Given the description of an element on the screen output the (x, y) to click on. 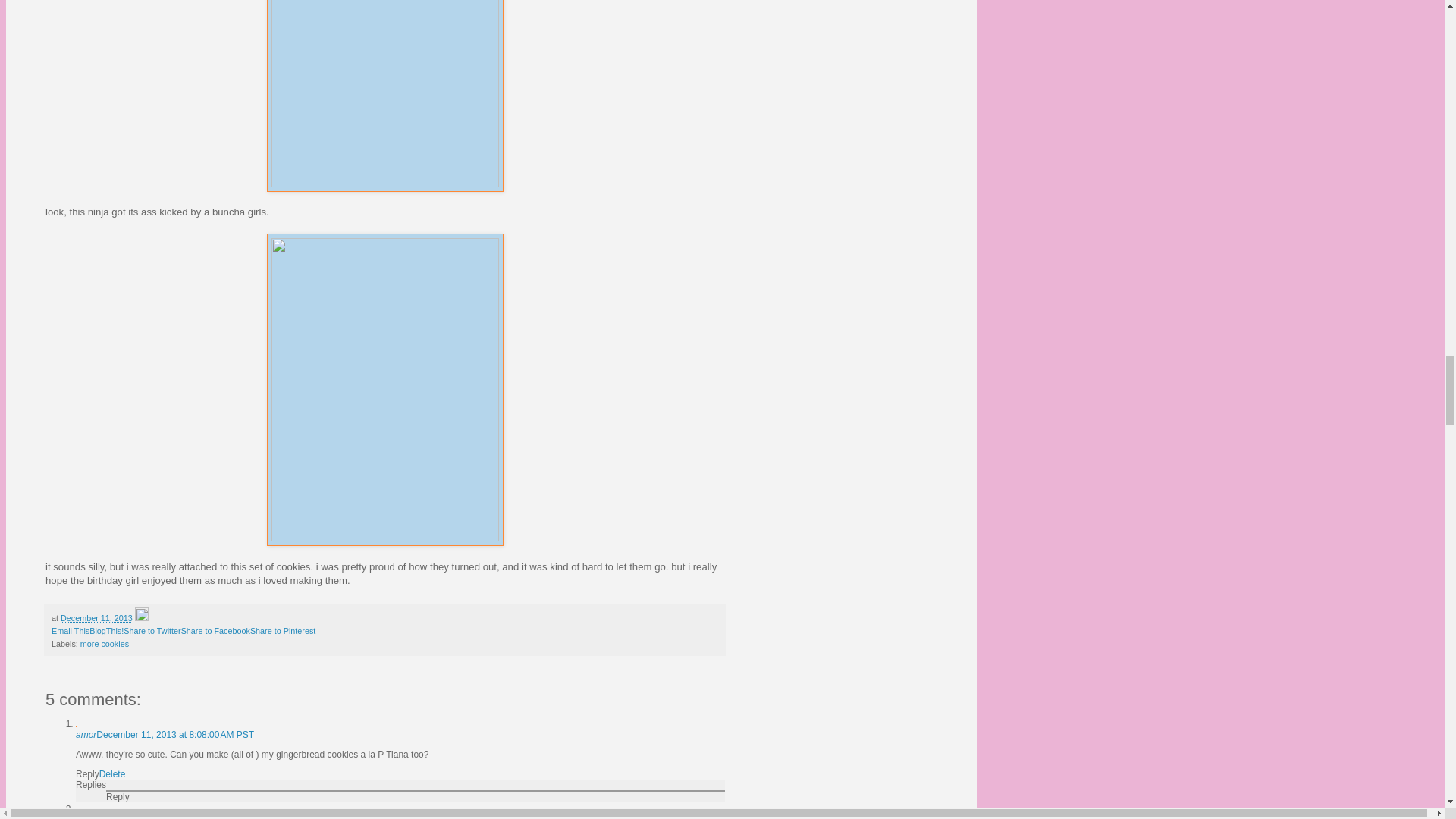
December 11, 2013 (96, 617)
Edit Post (141, 617)
amor (85, 734)
Share to Facebook (215, 630)
Reply (117, 796)
Share to Pinterest (282, 630)
Replies (90, 784)
Reply (87, 774)
Email This (69, 630)
permanent link (96, 617)
Share to Facebook (215, 630)
Nanette (91, 816)
more cookies (104, 643)
Share to Twitter (151, 630)
